Given the description of an element on the screen output the (x, y) to click on. 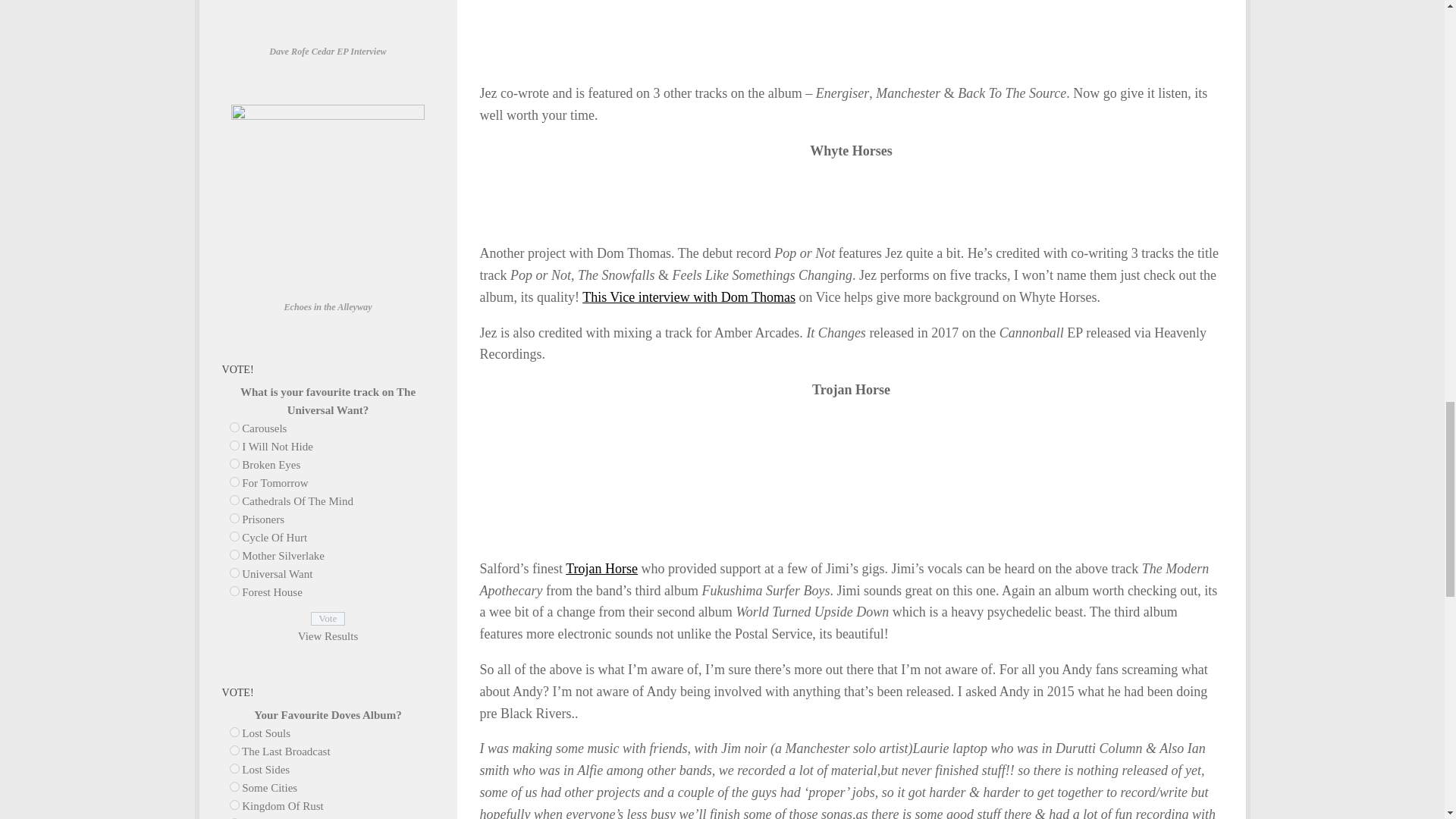
44 (233, 426)
48 (233, 499)
46 (233, 462)
7 (233, 749)
47 (233, 480)
View Results Of This Poll (328, 635)
53 (233, 590)
8 (233, 767)
52 (233, 572)
6 (233, 731)
